Given the description of an element on the screen output the (x, y) to click on. 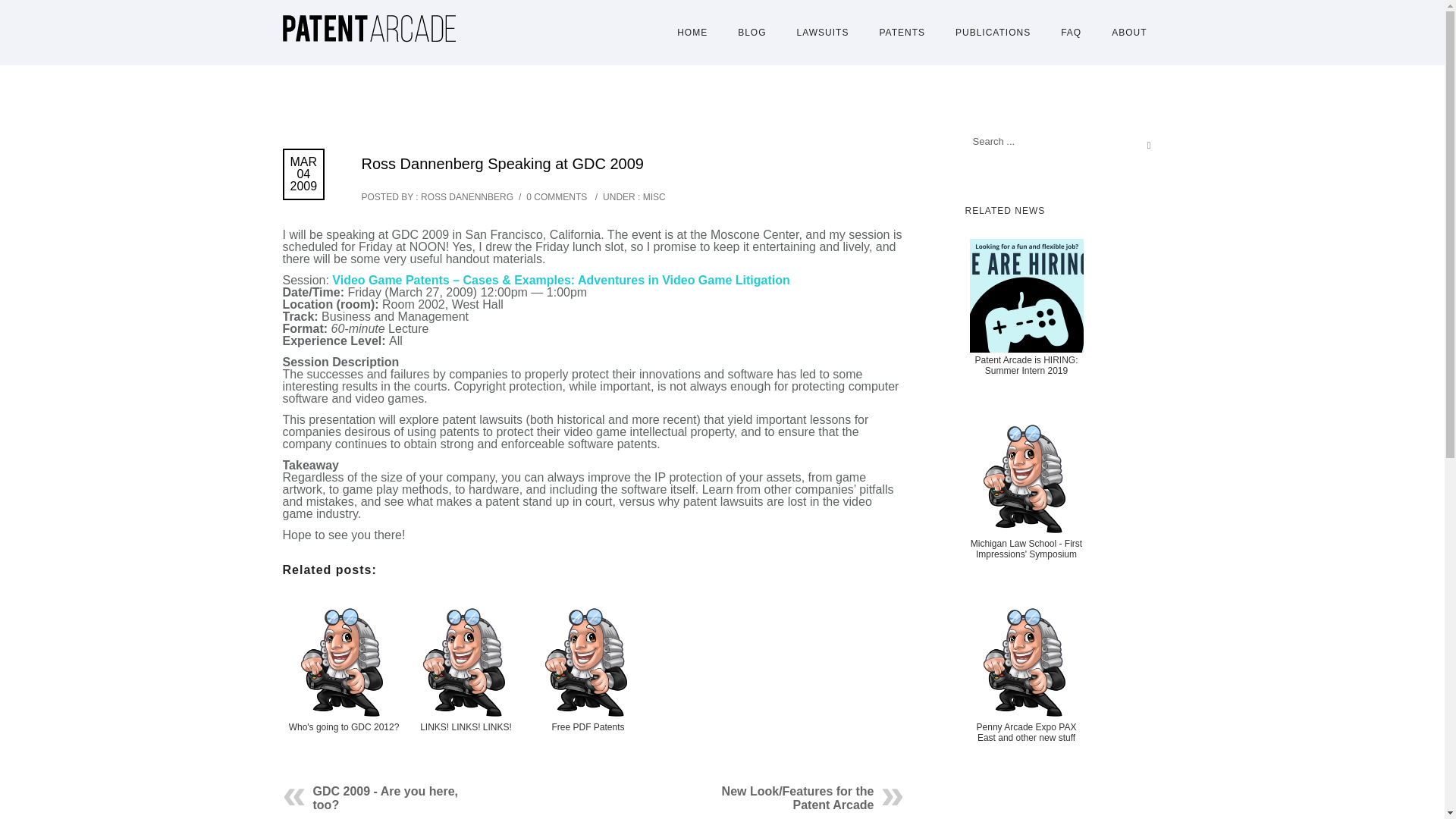
PATENTS (901, 32)
ROSS DANENNBERG (466, 196)
About (1128, 32)
GDC 2009 - Are you here, too? (385, 797)
BLOG (751, 32)
ABOUT (1128, 32)
FAQ (1070, 32)
HOME (692, 32)
Publications (992, 32)
0 COMMENTS (555, 196)
LAWSUITS (822, 32)
Posts by Ross Danennberg (466, 196)
FAQ (1070, 32)
Ross Dannenberg Speaking at GDC 2009 (502, 163)
PUBLICATIONS (992, 32)
